Given the description of an element on the screen output the (x, y) to click on. 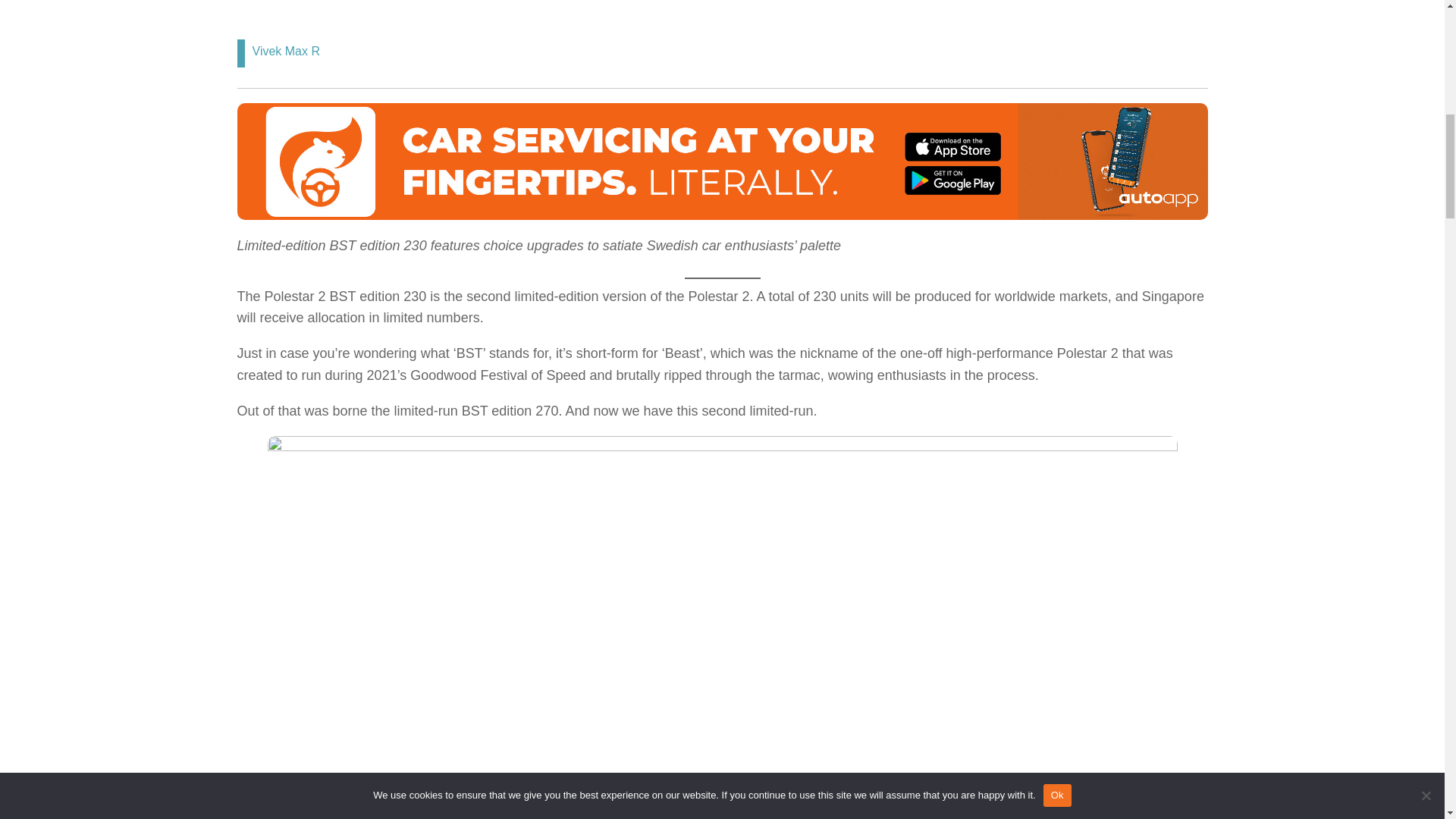
Vivek Max R (285, 51)
